Given the description of an element on the screen output the (x, y) to click on. 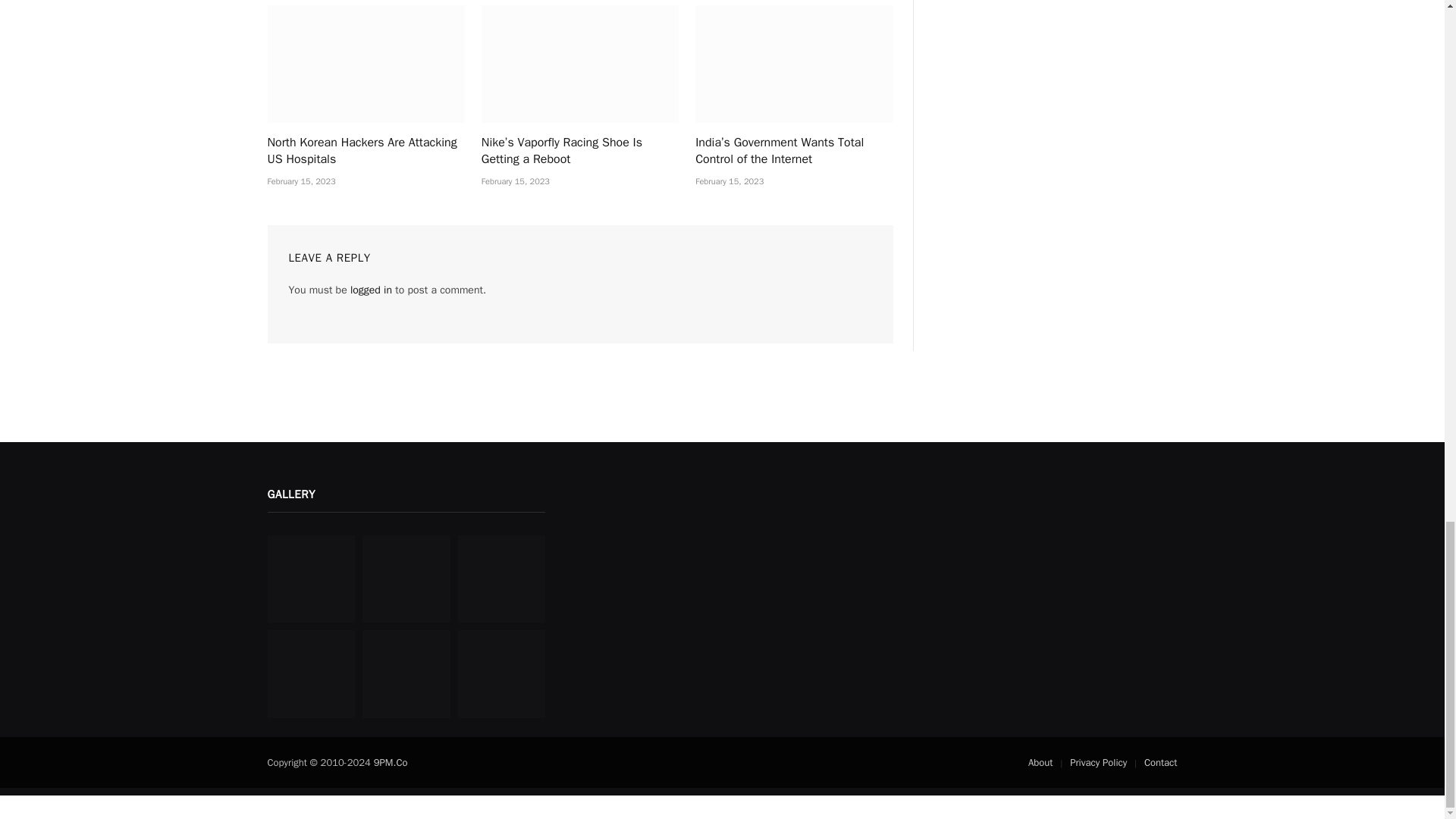
North Korean Hackers Are Attacking US Hospitals (365, 63)
